Given the description of an element on the screen output the (x, y) to click on. 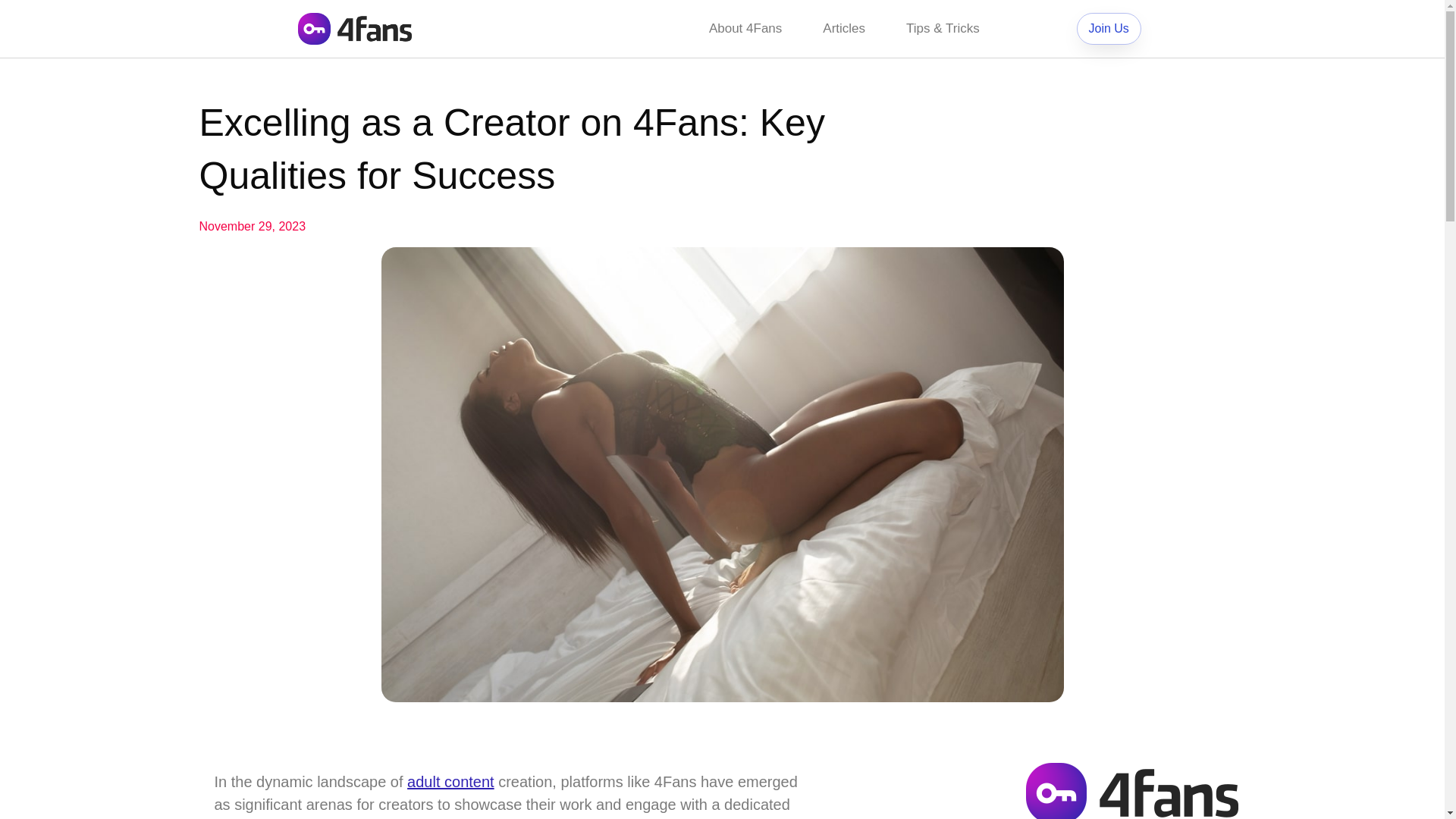
Join Us (1109, 29)
adult content (451, 781)
About 4Fans (745, 28)
Articles (843, 28)
November 29, 2023 (251, 226)
